Given the description of an element on the screen output the (x, y) to click on. 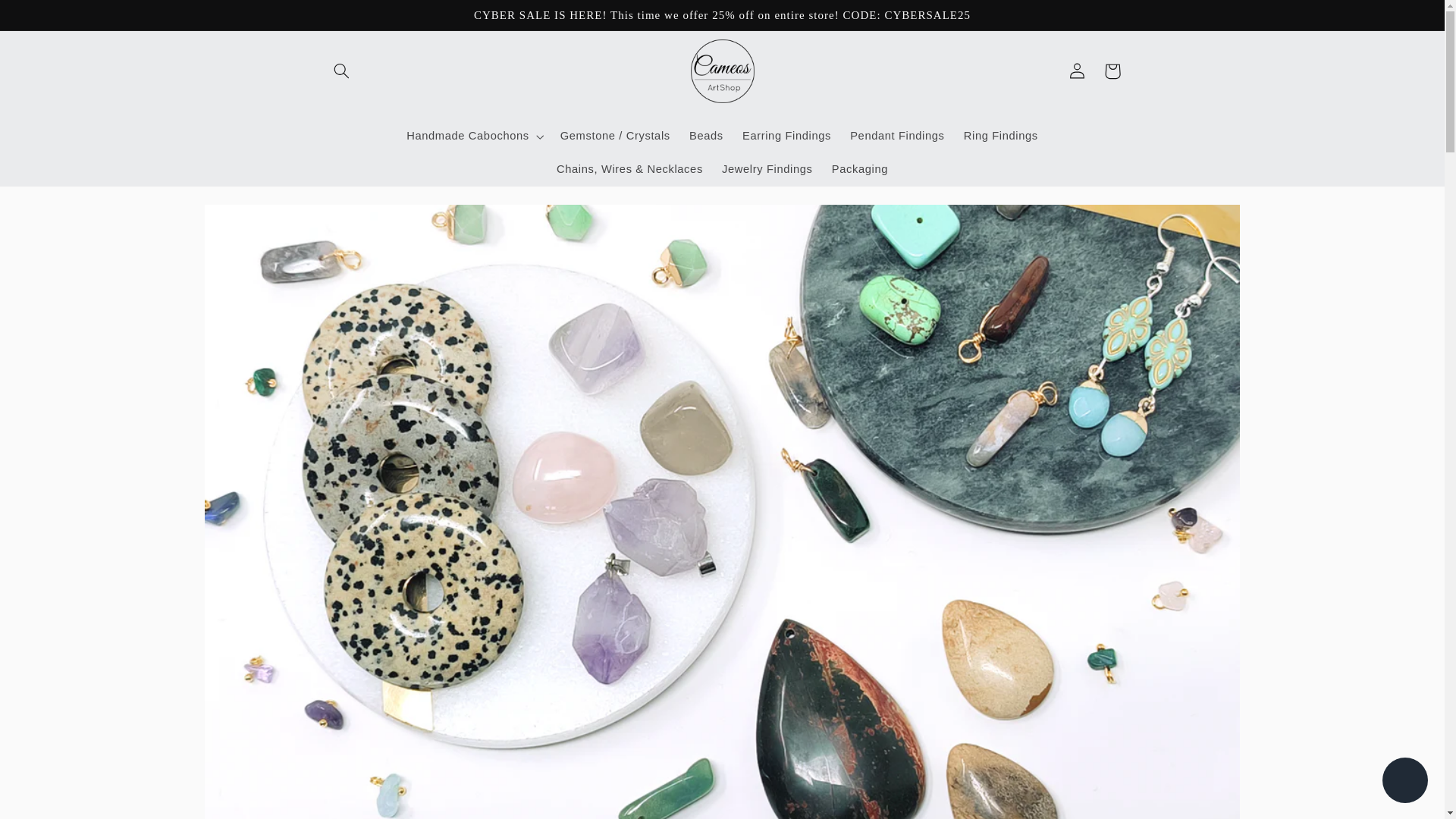
Shopify online store chat (1404, 781)
Pendant Findings (898, 136)
Jewelry Findings (766, 169)
Cart (1111, 71)
Earring Findings (786, 136)
Packaging (859, 169)
Beads (705, 136)
Log in (1076, 71)
Ring Findings (999, 136)
Skip to content (48, 18)
